Given the description of an element on the screen output the (x, y) to click on. 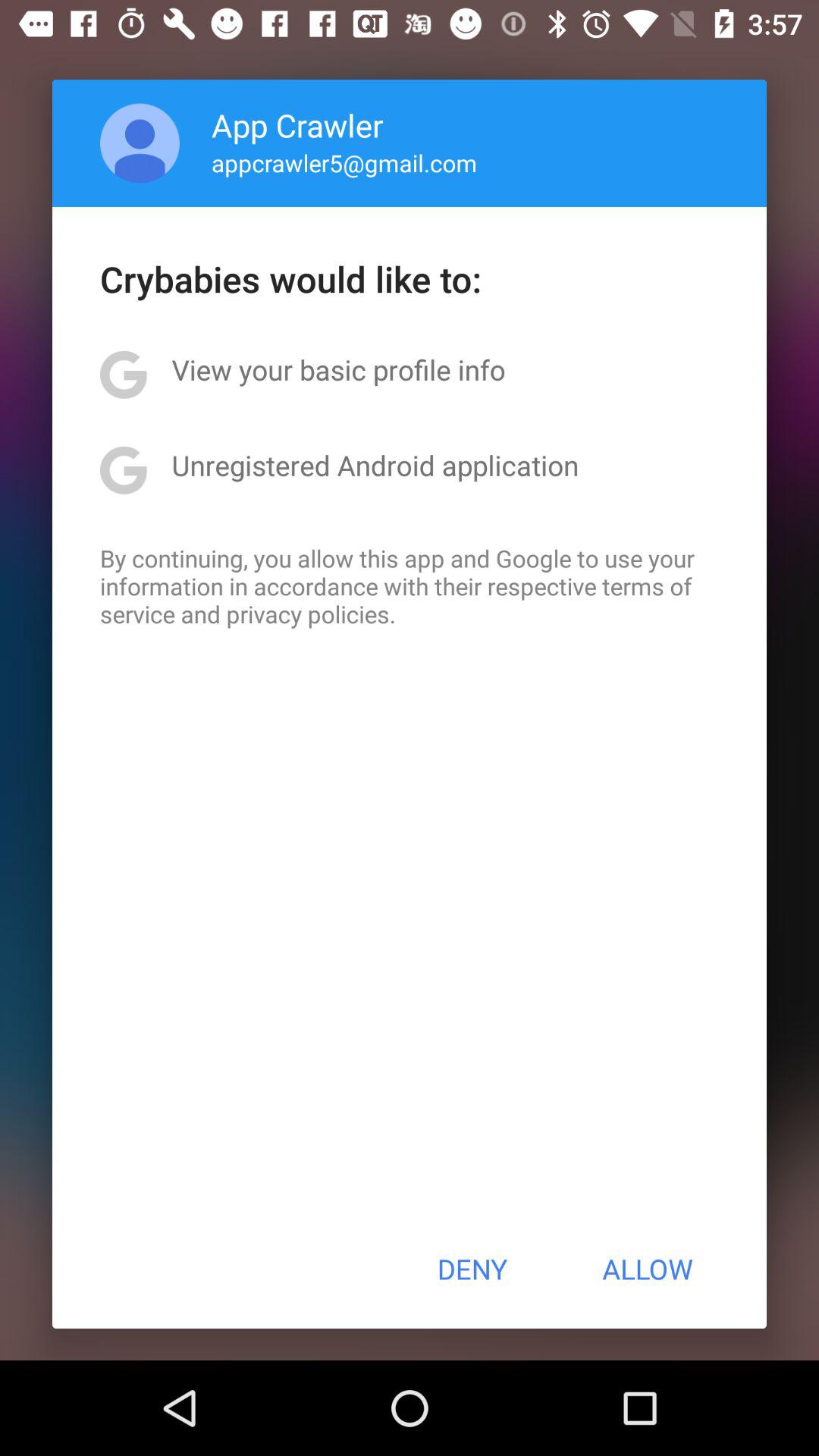
turn off item next to the app crawler app (139, 143)
